Given the description of an element on the screen output the (x, y) to click on. 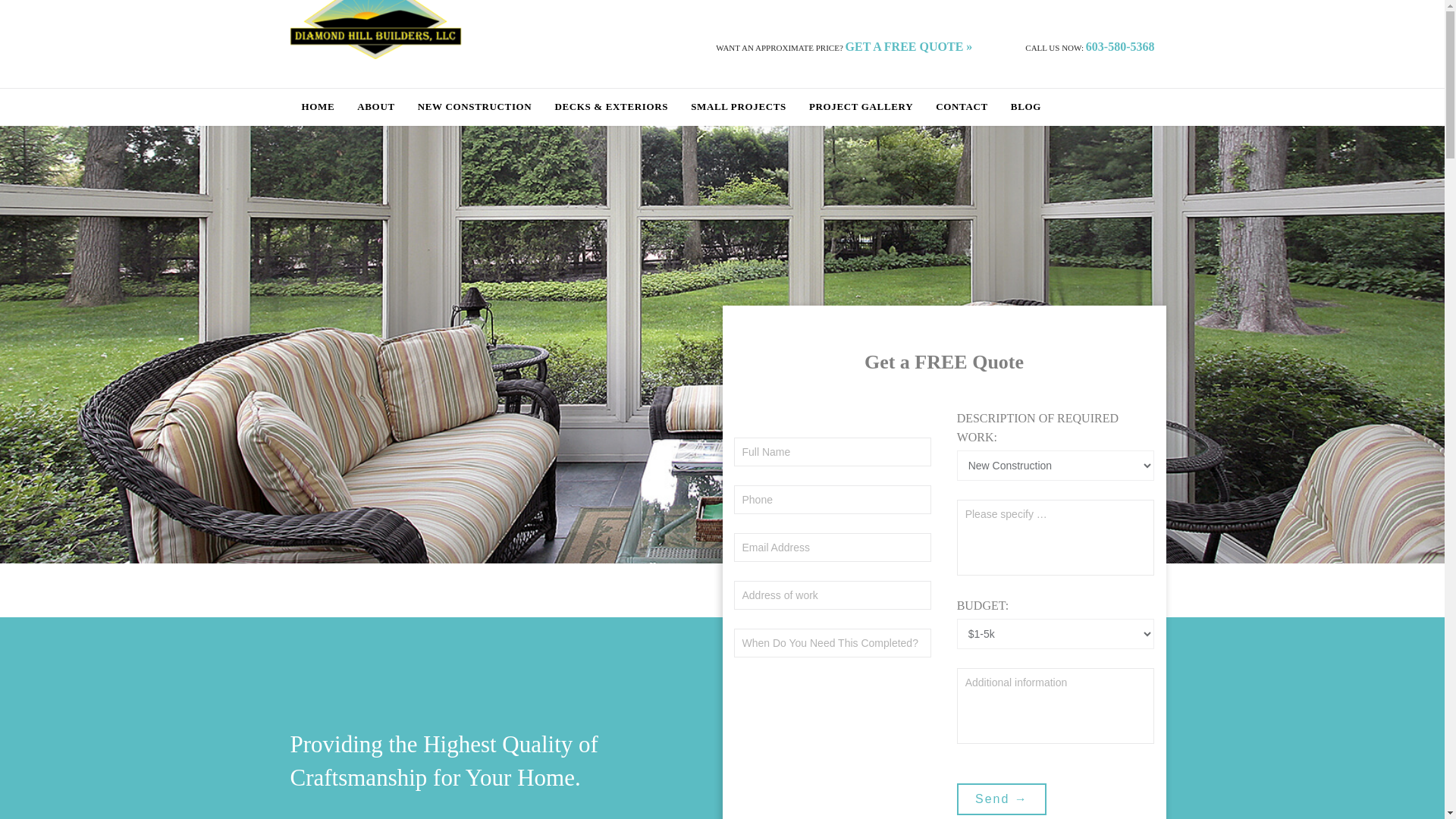
603-580-5368 (1120, 46)
NEW CONSTRUCTION (474, 107)
HOME (317, 107)
ABOUT (375, 107)
